Given the description of an element on the screen output the (x, y) to click on. 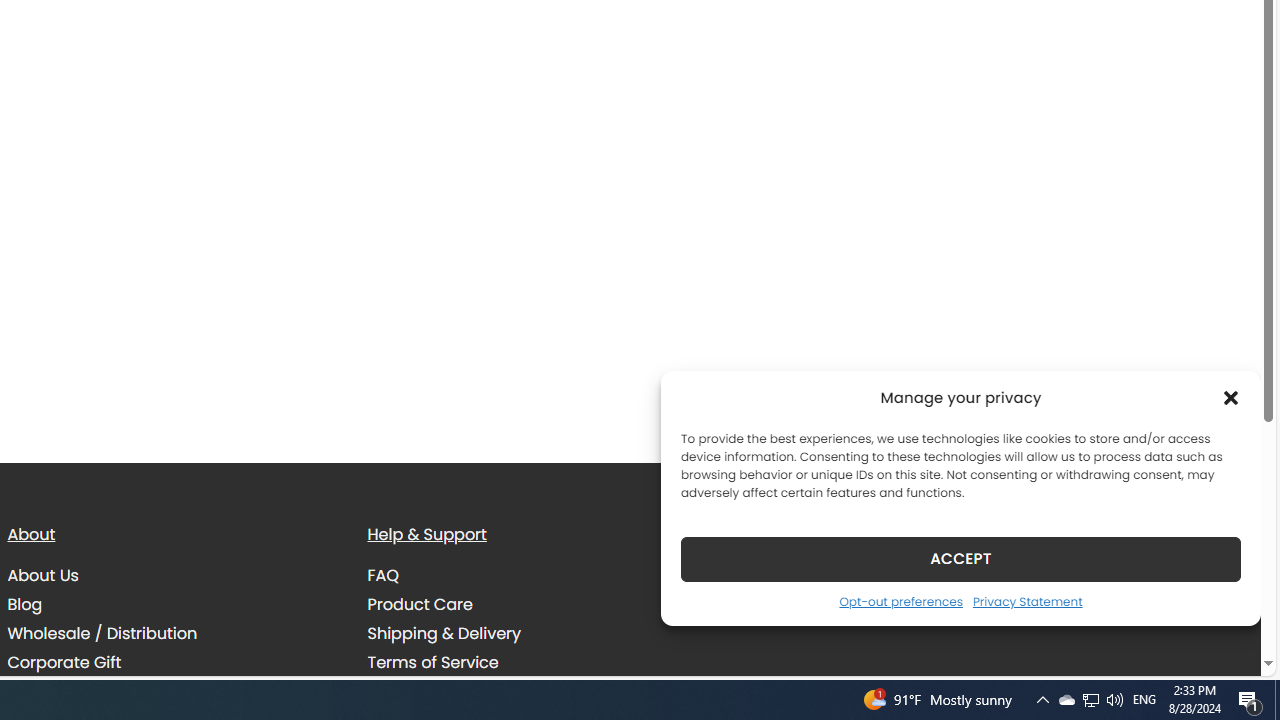
Blog (171, 604)
ACCEPT (960, 558)
Shipping & Delivery (532, 633)
Opt-out preferences (900, 601)
Wholesale / Distribution (171, 633)
About Us (42, 575)
Terms of Service (532, 662)
Privacy Statement (1026, 601)
Blog (24, 605)
Corporate Gift (63, 661)
Shipping & Delivery (444, 633)
Corporate Gift (171, 662)
Product Care (532, 604)
Terms of Service (433, 661)
About Us (171, 576)
